Given the description of an element on the screen output the (x, y) to click on. 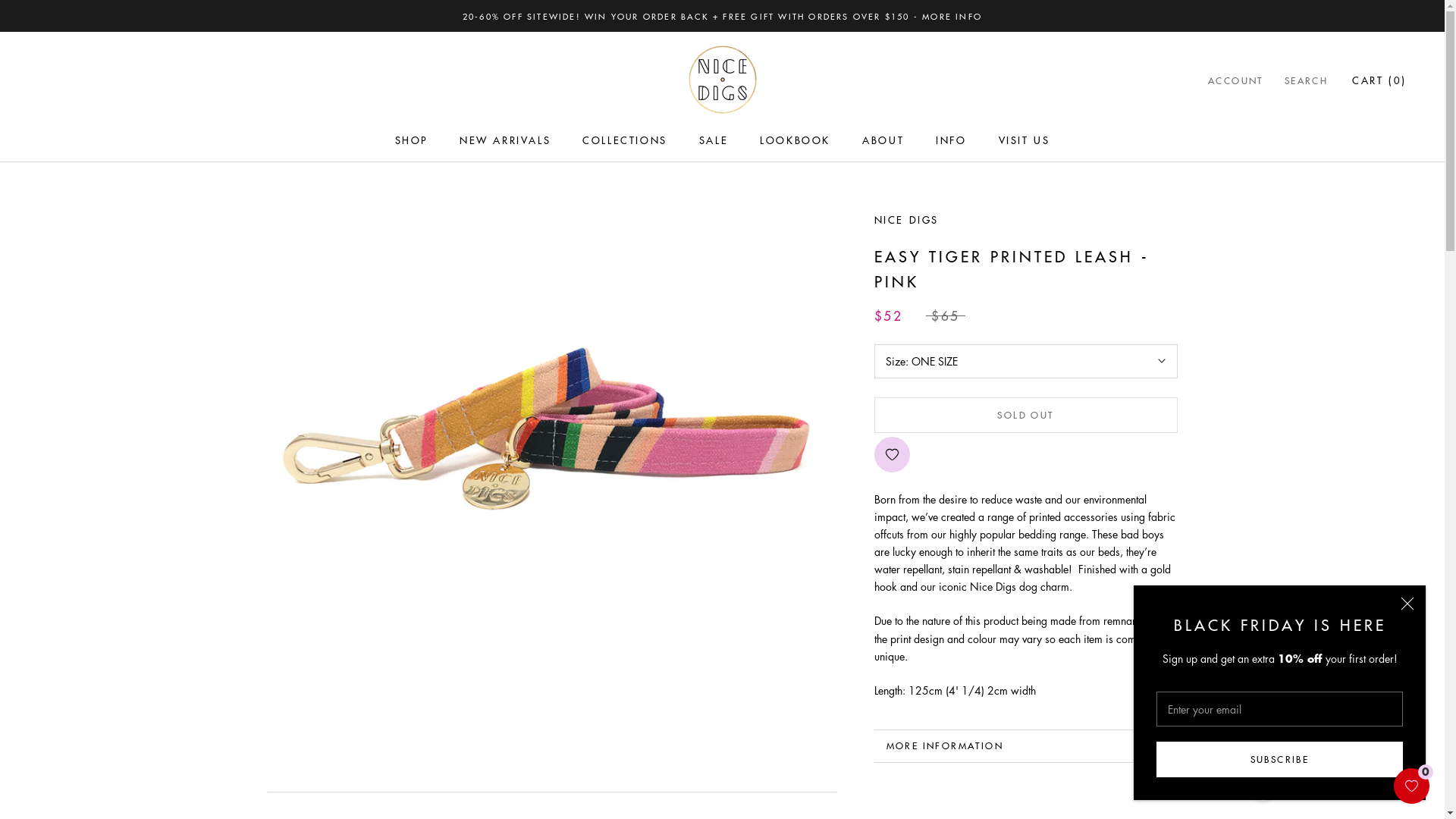
INFO Element type: text (950, 139)
NEW ARRIVALS
NEW ARRIVALS Element type: text (504, 139)
SOLD OUT Element type: text (1024, 415)
SALE
SALE Element type: text (713, 139)
SEARCH Element type: text (1305, 80)
VISIT US
VISIT US Element type: text (1024, 139)
ACCOUNT Element type: text (1235, 80)
CART (0) Element type: text (1379, 79)
Size: ONE SIZE Element type: text (1024, 361)
SHOP
SHOP Element type: text (411, 139)
COLLECTIONS Element type: text (624, 139)
MORE INFORMATION Element type: text (1024, 746)
LOOKBOOK
LOOKBOOK Element type: text (794, 139)
ABOUT
ABOUT Element type: text (882, 139)
